Given the description of an element on the screen output the (x, y) to click on. 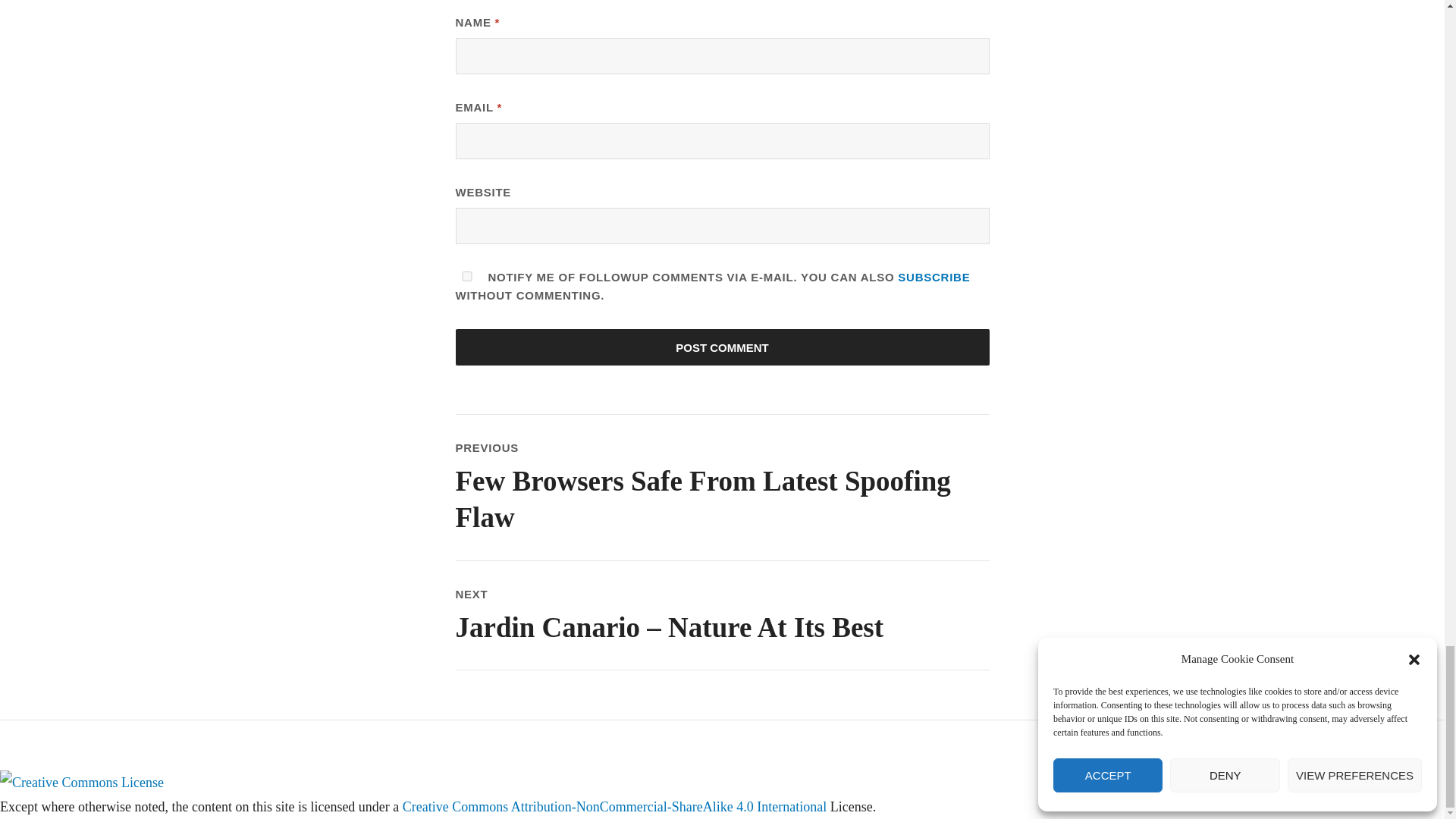
yes (465, 276)
Post Comment (721, 347)
